Given the description of an element on the screen output the (x, y) to click on. 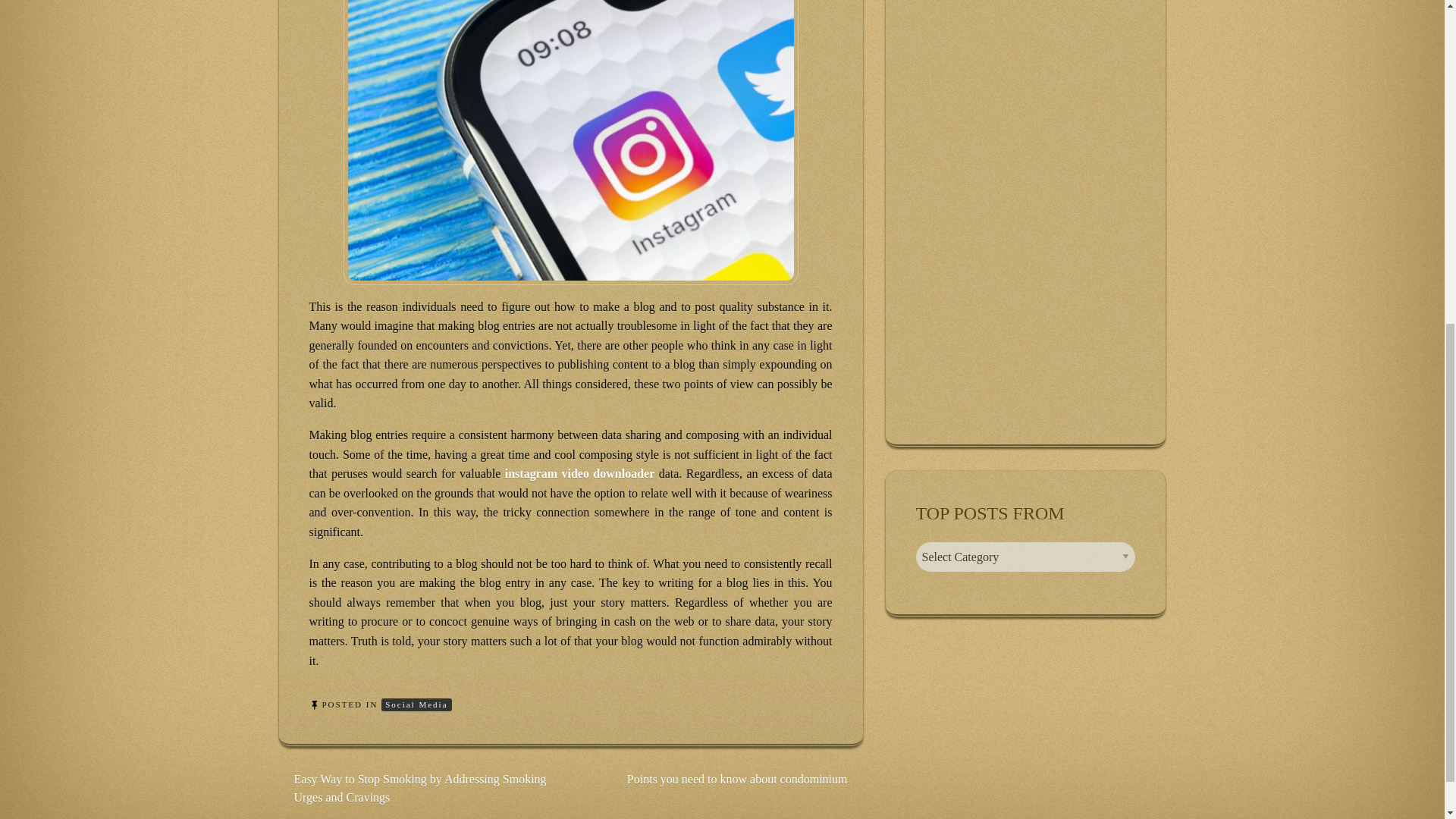
instagram video downloader (580, 472)
Points you need to know about condominium (737, 779)
Social Media (416, 704)
